Given the description of an element on the screen output the (x, y) to click on. 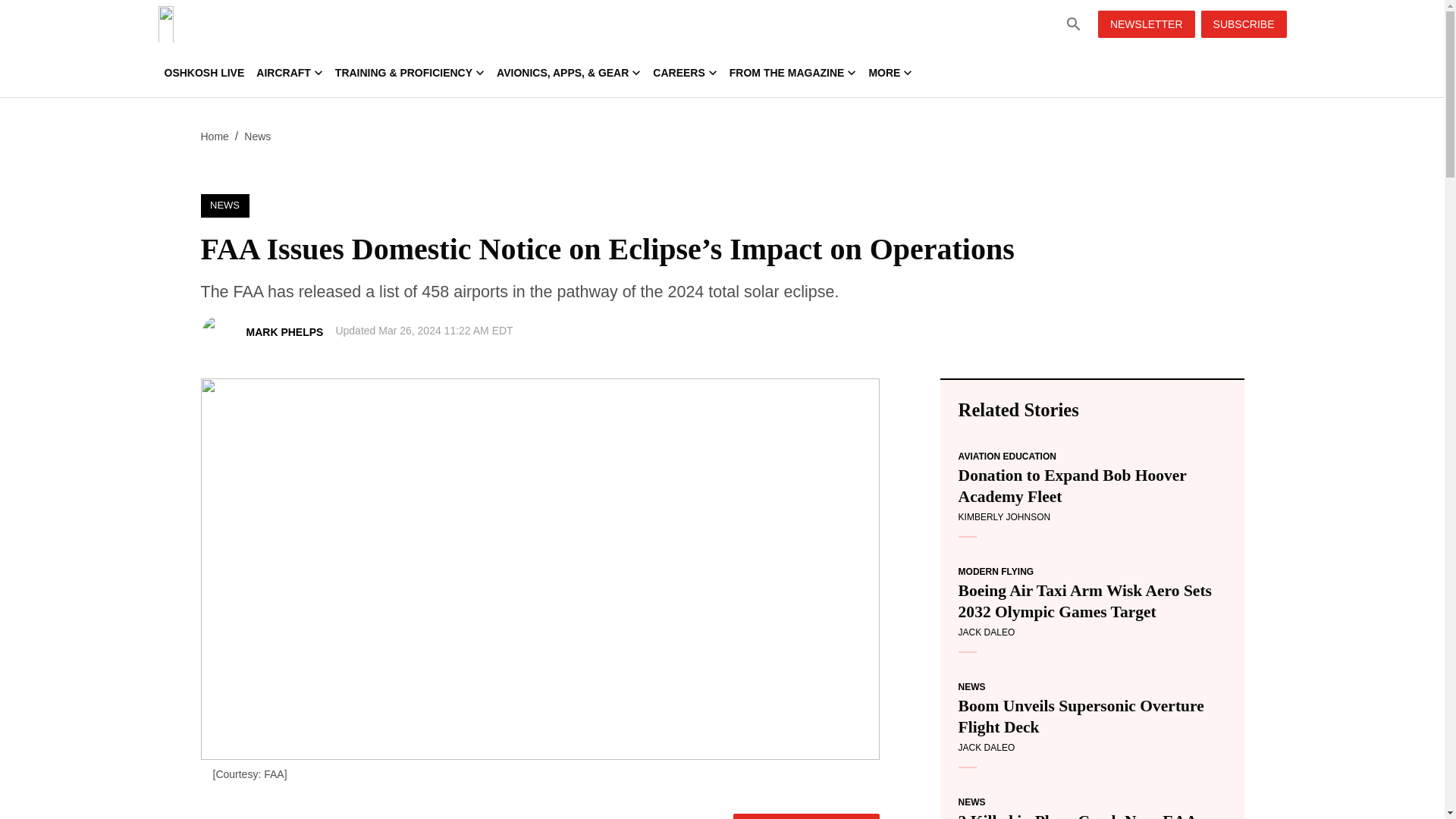
Home (214, 136)
Boom Unveils Supersonic Overture Flight Deck (1091, 716)
NEWS (224, 205)
SUBSCRIBE (1244, 24)
MORE (889, 72)
FROM THE MAGAZINE (793, 72)
OSHKOSH LIVE (203, 72)
SHARE THIS STORY (806, 816)
JACK DALEO (986, 747)
JACK DALEO (986, 632)
AVIATION EDUCATION (1007, 456)
AIRCRAFT (289, 72)
NEWS (971, 686)
Donation to Expand Bob Hoover Academy Fleet (1091, 485)
KIMBERLY JOHNSON (1004, 516)
